Given the description of an element on the screen output the (x, y) to click on. 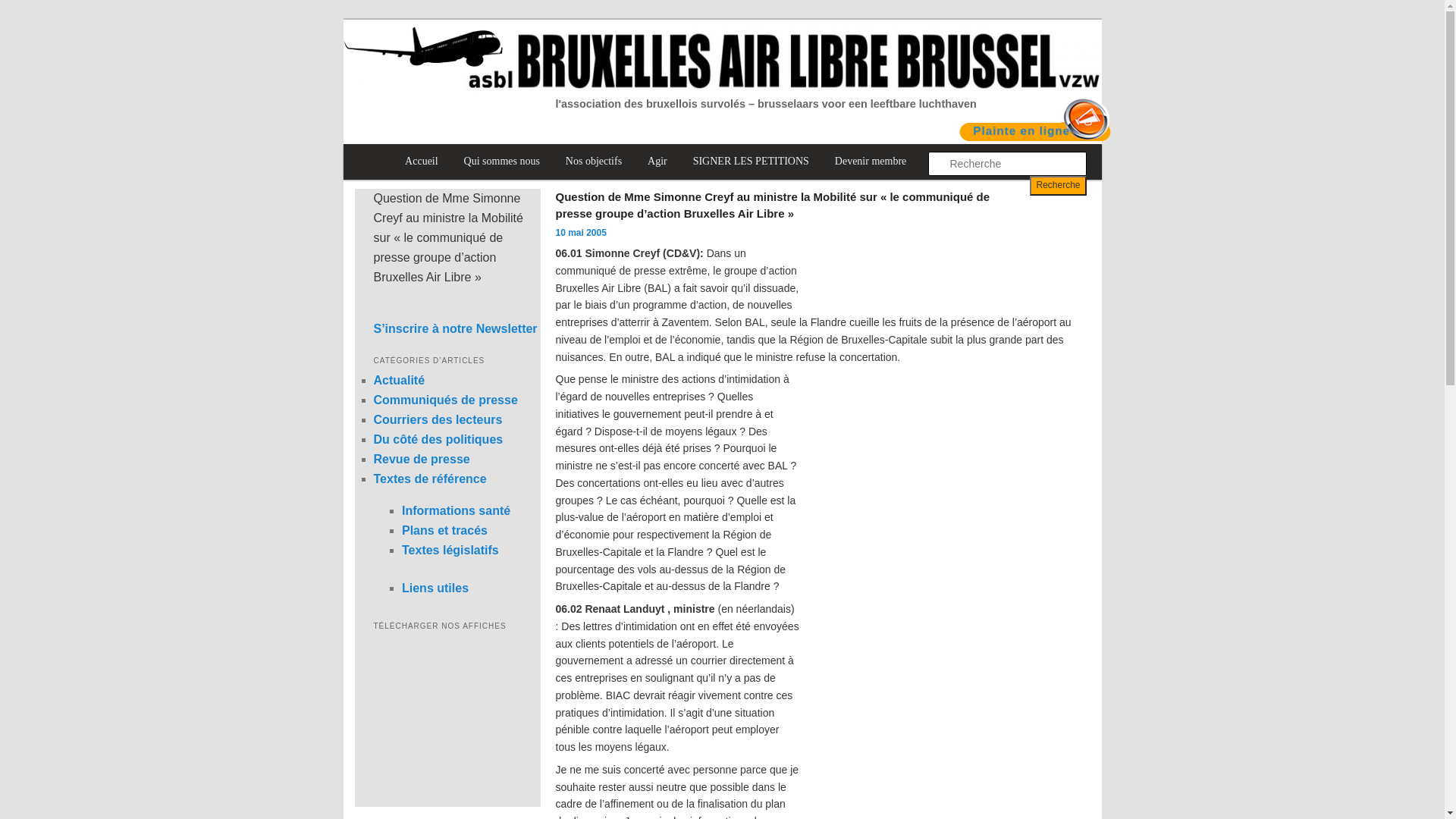
Liens utiles Element type: text (434, 587)
Revue de presse Element type: text (421, 458)
Aller au contenu principal Element type: text (411, 144)
Qui sommes nous Element type: text (501, 161)
Nos objectifs Element type: text (593, 161)
Courriers des lecteurs Element type: text (437, 419)
SIGNER LES PETITIONS Element type: text (751, 161)
Accueil Element type: text (421, 161)
Recherche Element type: text (1057, 185)
Agir Element type: text (657, 161)
10 mai 2005 Element type: text (580, 232)
Devenir membre Element type: text (870, 161)
asbl Bruxelles Air Libre Brussel vzw Element type: text (538, 65)
